Given the description of an element on the screen output the (x, y) to click on. 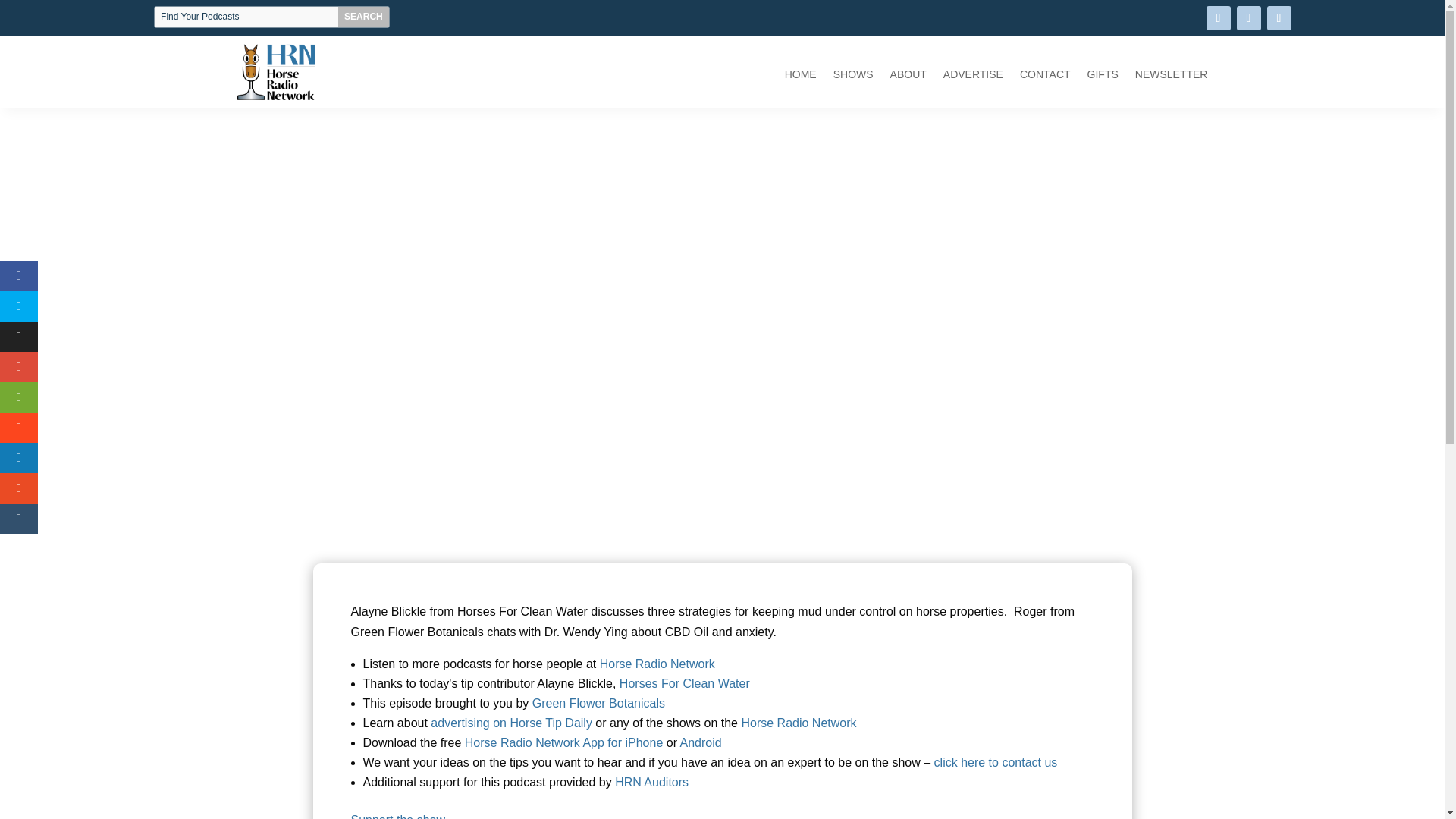
Green Flower Botanicals (598, 703)
Horse Radio Network App for iPhone (561, 742)
HRN Auditors (651, 781)
Horse Radio Network (798, 722)
Android (700, 742)
SHOWS (852, 76)
Follow on Instagram (1278, 17)
Follow on Facebook (1217, 17)
Horses For Clean Water (684, 683)
Search (363, 16)
